Given the description of an element on the screen output the (x, y) to click on. 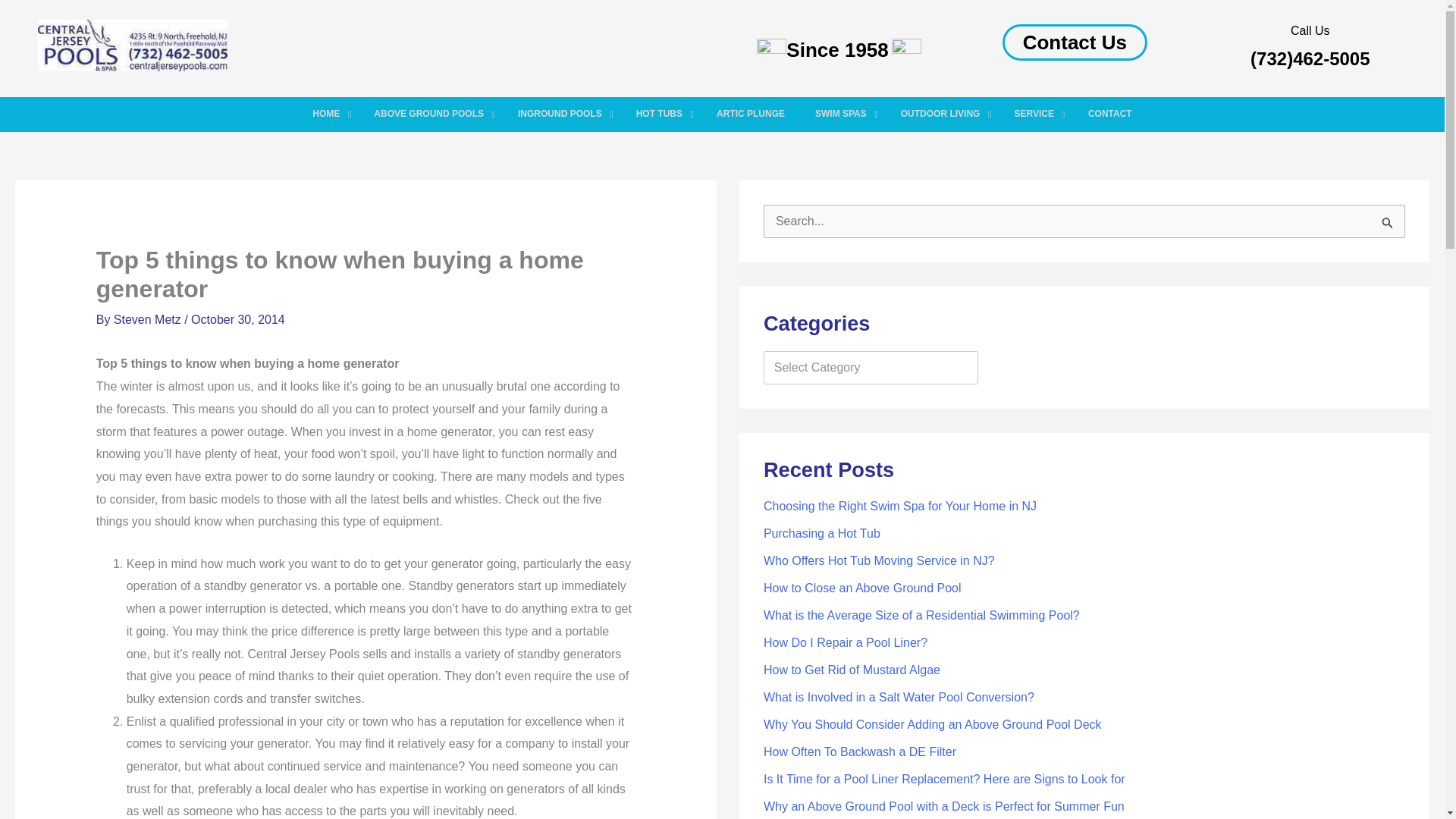
cropped-CJP-Logo-Address-85.jpg (132, 45)
HOME (327, 114)
Contact Us (1075, 42)
View all posts by Steven Metz (148, 318)
